Given the description of an element on the screen output the (x, y) to click on. 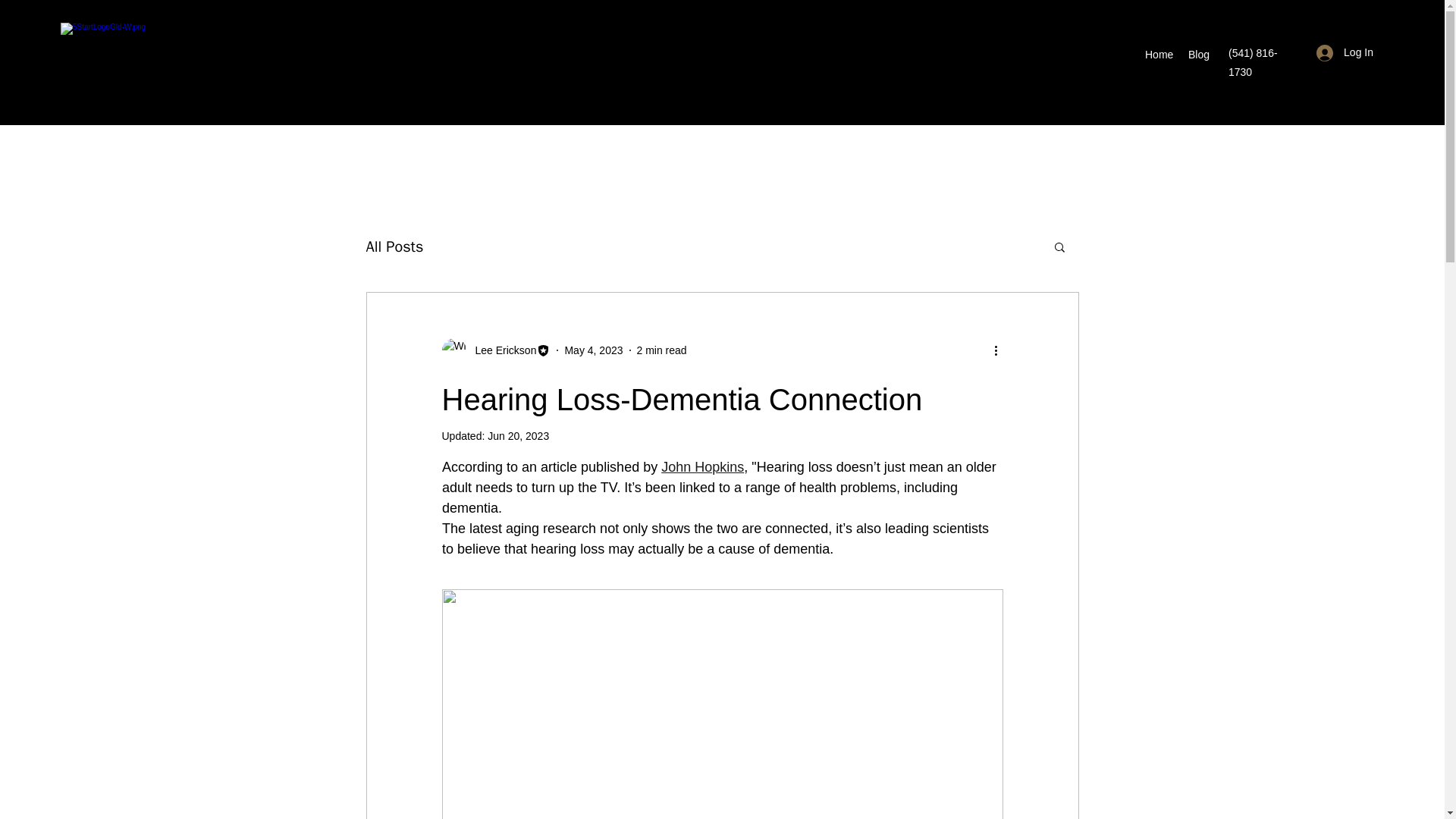
Lee Erickson (495, 350)
Blog (1198, 54)
Jun 20, 2023 (517, 435)
Home (1158, 54)
Log In (1345, 52)
2 min read (662, 349)
Lee Erickson (500, 350)
John Hopkins (702, 467)
All Posts (394, 246)
May 4, 2023 (593, 349)
